Given the description of an element on the screen output the (x, y) to click on. 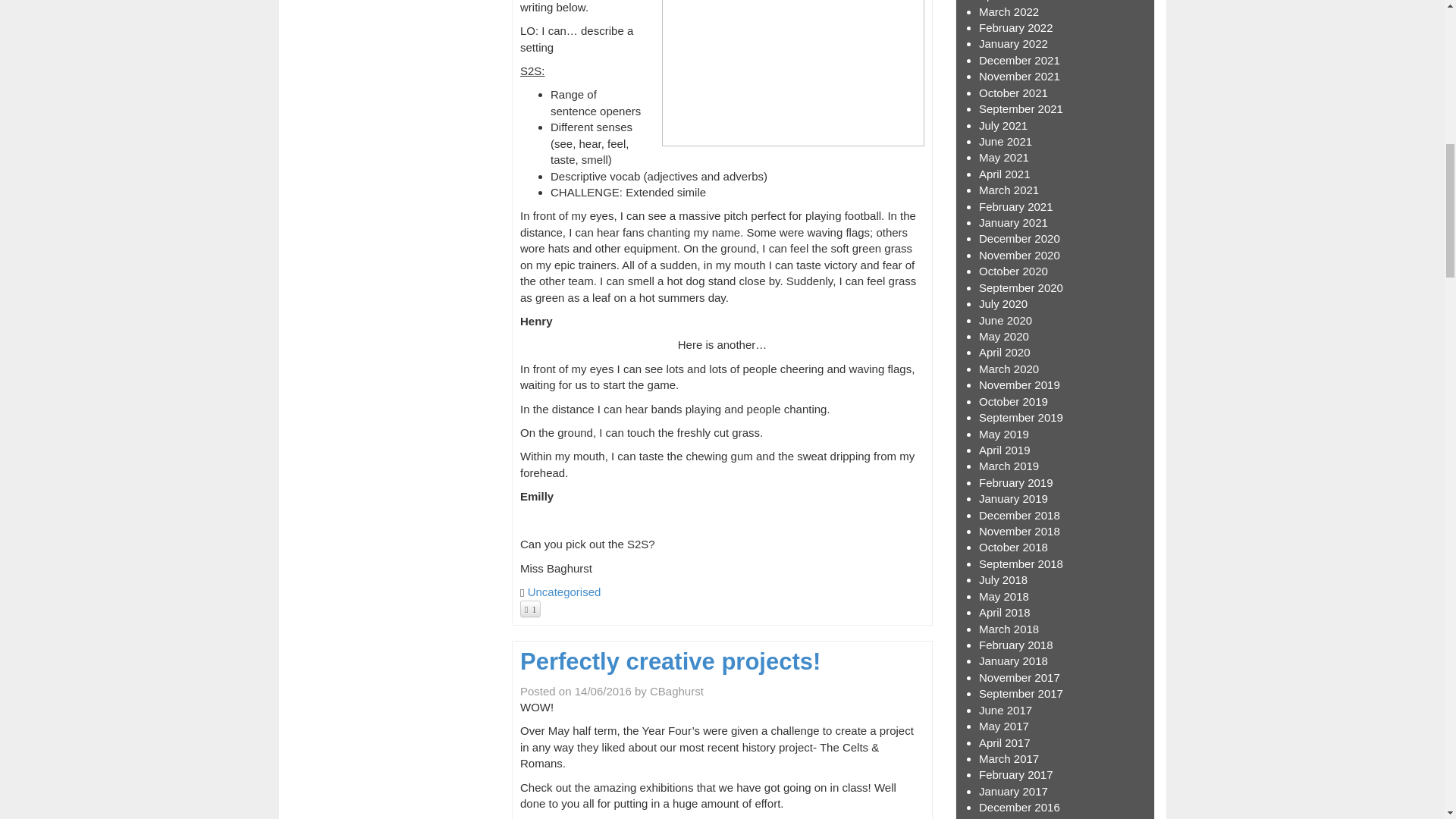
Perfectly creative projects! (670, 661)
View all posts by CBaghurst (676, 690)
CBaghurst (676, 690)
1 (529, 608)
Uncategorised (564, 591)
07:44 (603, 690)
